Given the description of an element on the screen output the (x, y) to click on. 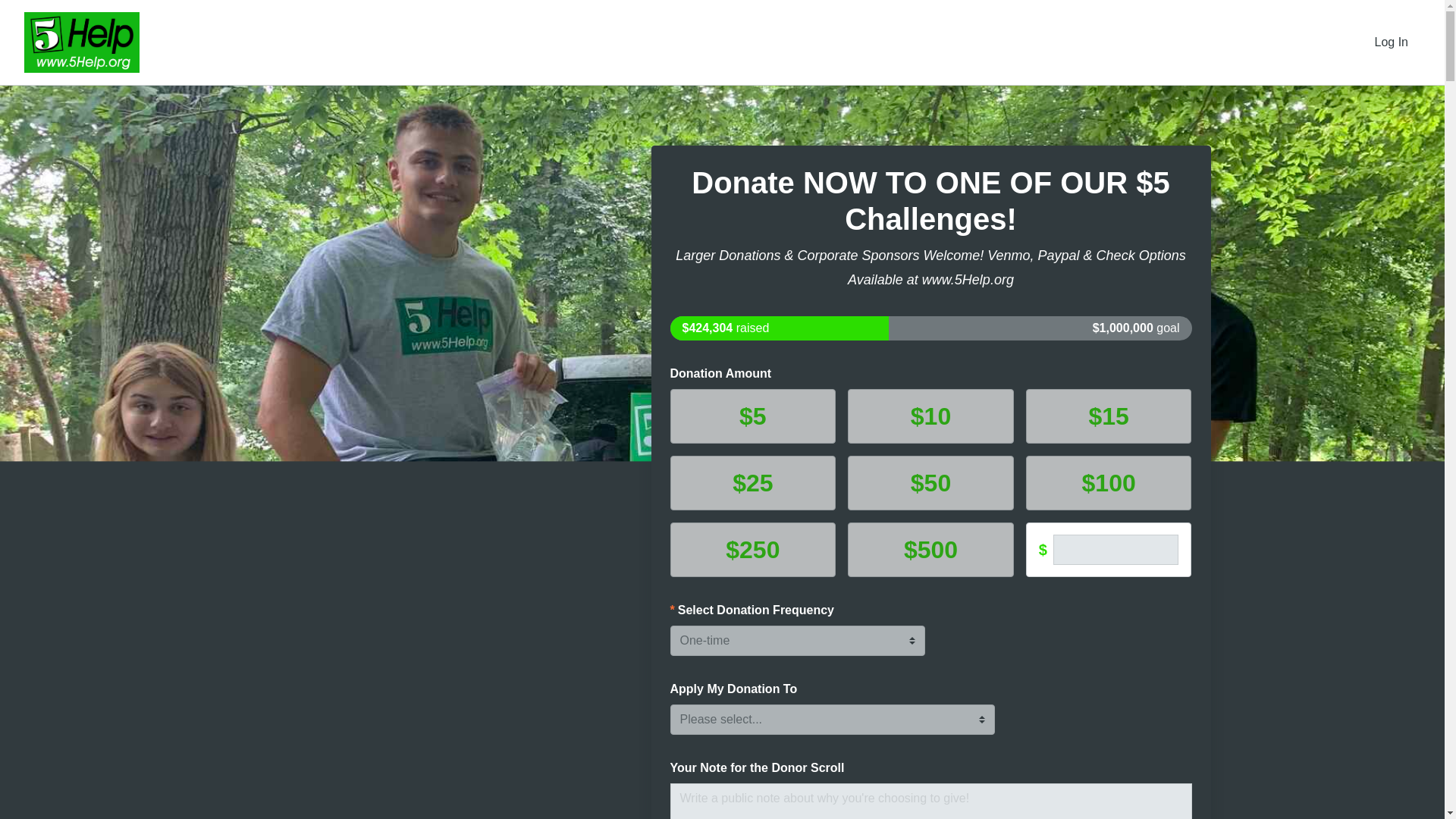
Log In (1391, 42)
Custom Donation Amount (1115, 549)
